Given the description of an element on the screen output the (x, y) to click on. 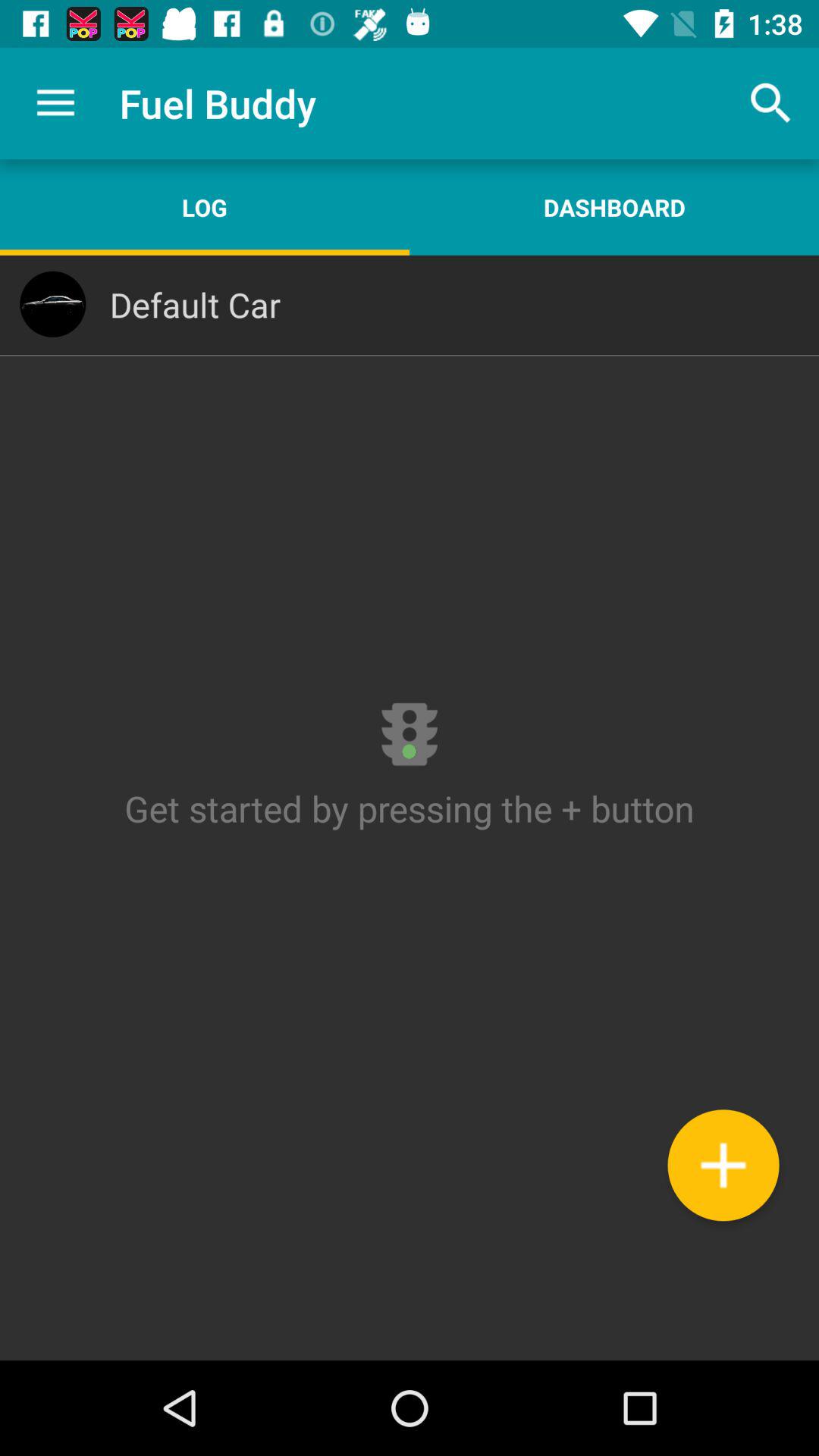
add contact (723, 1165)
